Given the description of an element on the screen output the (x, y) to click on. 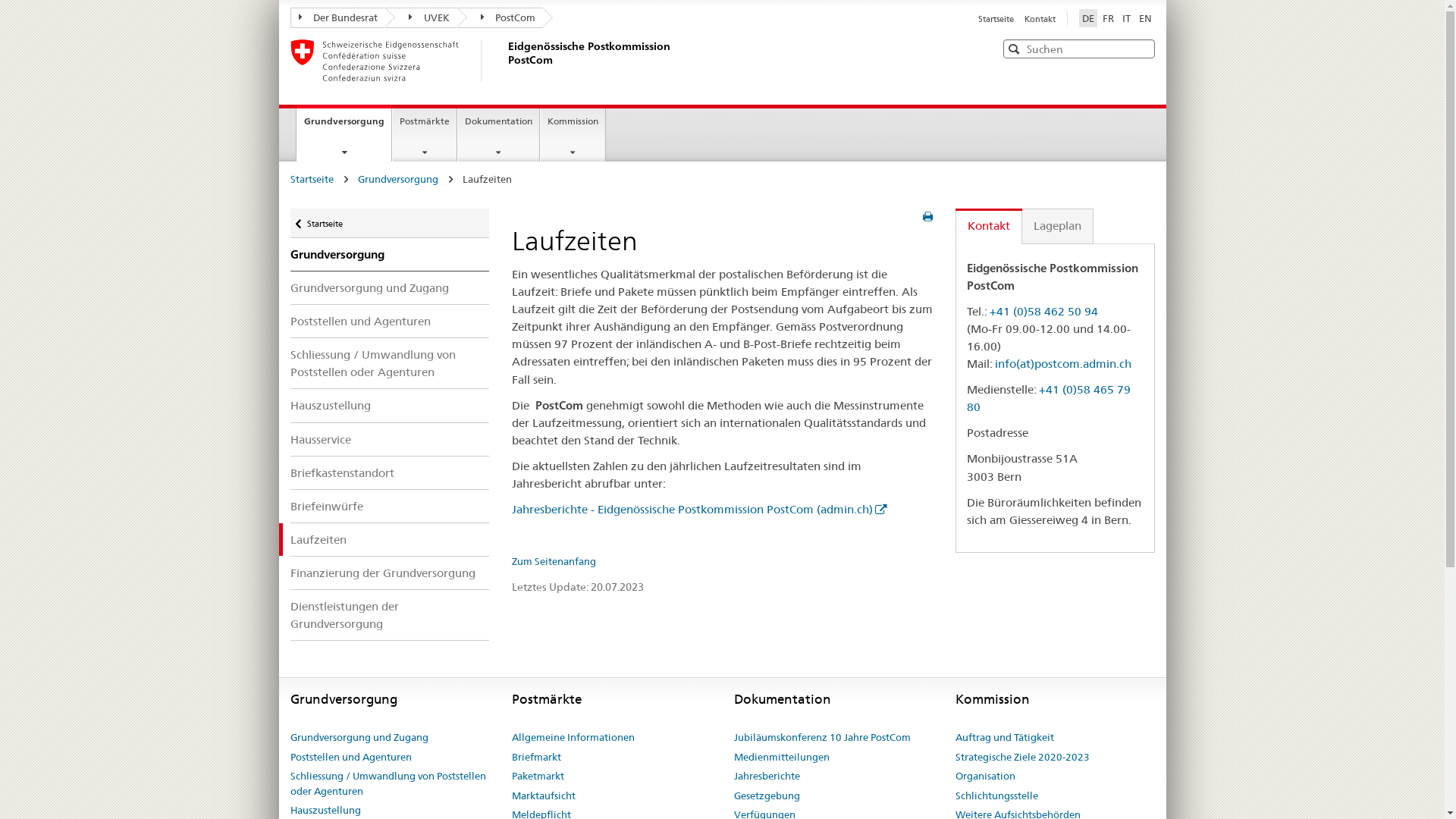
Schlichtungsstelle Element type: text (996, 796)
Paketmarkt Element type: text (537, 776)
FR Element type: text (1108, 18)
IT Element type: text (1126, 18)
Grundversorgung
Aktuelle Seite Element type: text (344, 132)
+41 (0)58 462 50 94 Element type: text (1043, 311)
DE Element type: text (1087, 18)
Dokumentation Element type: text (498, 134)
PostCom Element type: text (499, 17)
Startseite Element type: text (310, 178)
Strategische Ziele 2020-2023 Element type: text (1022, 757)
EN Element type: text (1144, 18)
Grundversorgung und Zugang Element type: text (358, 737)
Hauszustellung Element type: text (389, 405)
Schliessung / Umwandlung von Poststellen oder Agenturen Element type: text (389, 783)
UVEK Element type: text (421, 17)
Briefmarkt Element type: text (536, 757)
Briefkastenstandort Element type: text (389, 472)
Startseite Element type: text (997, 18)
Marktaufsicht Element type: text (543, 796)
Allgemeine Informationen Element type: text (572, 737)
Kommission Element type: text (572, 134)
Gesetzgebung Element type: text (767, 796)
Medienmitteilungen Element type: text (781, 757)
Laufzeiten Element type: text (389, 539)
Kontakt Element type: text (1038, 18)
Grundversorgung Element type: text (389, 254)
Finanzierung der Grundversorgung Element type: text (389, 572)
Poststellen und Agenturen Element type: text (350, 757)
print Element type: hover (927, 216)
Zum Seitenanfang Element type: text (553, 561)
Hausservice Element type: text (389, 439)
Dienstleistungen der Grundversorgung Element type: text (389, 614)
Organisation Element type: text (985, 776)
+41 (0)58 465 79 80 Element type: text (1048, 398)
Schliessung / Umwandlung von Poststellen oder Agenturen Element type: text (389, 363)
Kontakt Element type: text (988, 226)
Jahresberichte Element type: text (767, 776)
Lageplan Element type: text (1057, 226)
info(at)postcom.admin.ch Element type: text (1062, 363)
Poststellen und Agenturen Element type: text (389, 320)
Grundversorgung und Zugang Element type: text (389, 287)
Der Bundesrat Element type: text (337, 17)
Grundversorgung Element type: text (397, 178)
